Given the description of an element on the screen output the (x, y) to click on. 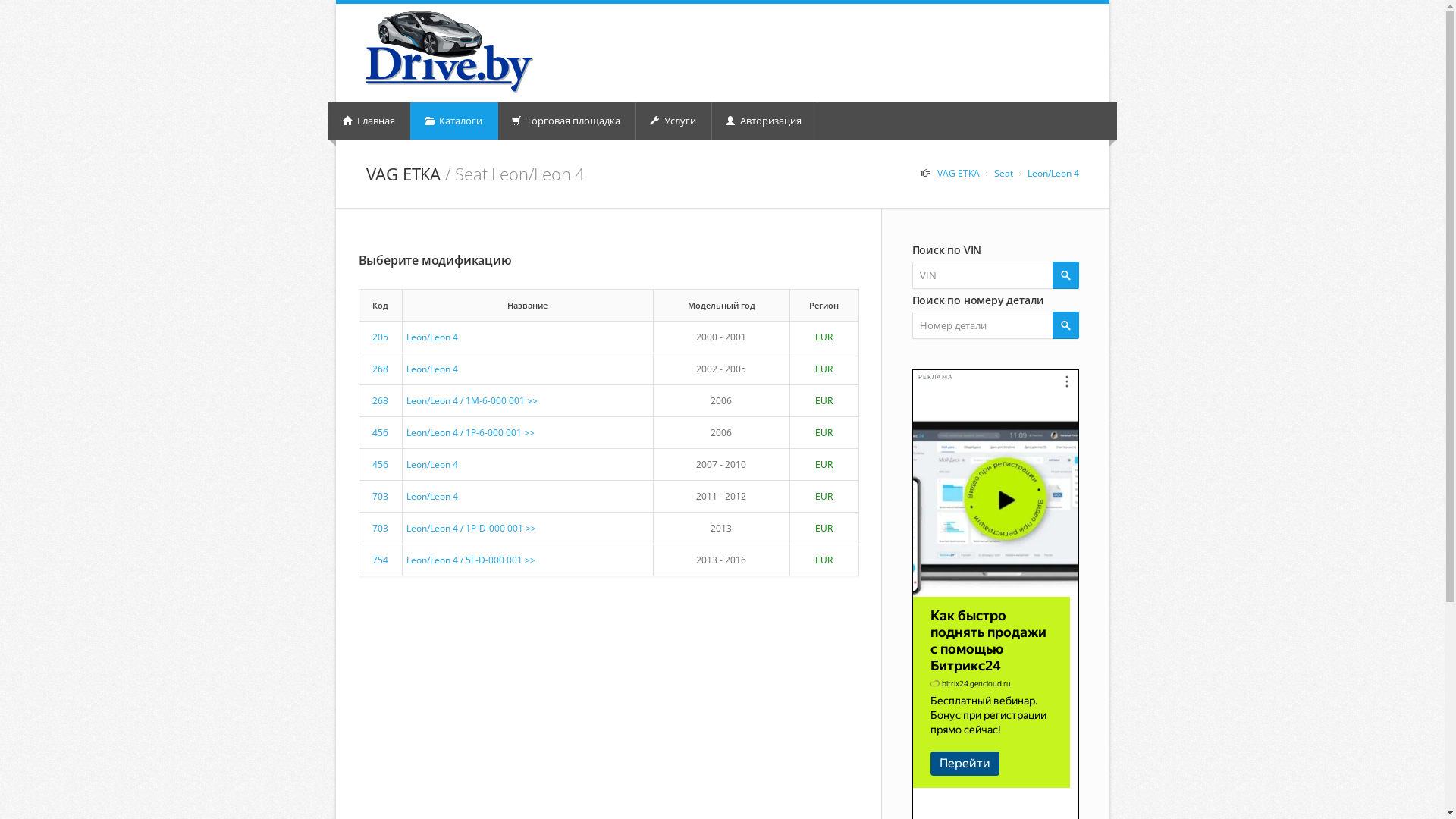
Leon/Leon 4 Element type: text (432, 368)
268 Element type: text (380, 400)
268 Element type: text (380, 368)
Leon/Leon 4 / 1P-6-000 001 >> Element type: text (470, 432)
Leon/Leon 4 / 1M-6-000 001 >> Element type: text (471, 400)
703 Element type: text (380, 495)
Leon/Leon 4 Element type: text (432, 336)
205 Element type: text (380, 336)
Seat Element type: text (1002, 172)
456 Element type: text (380, 432)
703 Element type: text (380, 527)
Leon/Leon 4 Element type: text (432, 464)
Leon/Leon 4 Element type: text (432, 495)
Leon/Leon 4 / 5F-D-000 001 >> Element type: text (470, 559)
Leon/Leon 4 Element type: text (1052, 172)
754 Element type: text (380, 559)
VAG ETKA Element type: text (958, 172)
Leon/Leon 4 / 1P-D-000 001 >> Element type: text (471, 527)
456 Element type: text (380, 464)
